Given the description of an element on the screen output the (x, y) to click on. 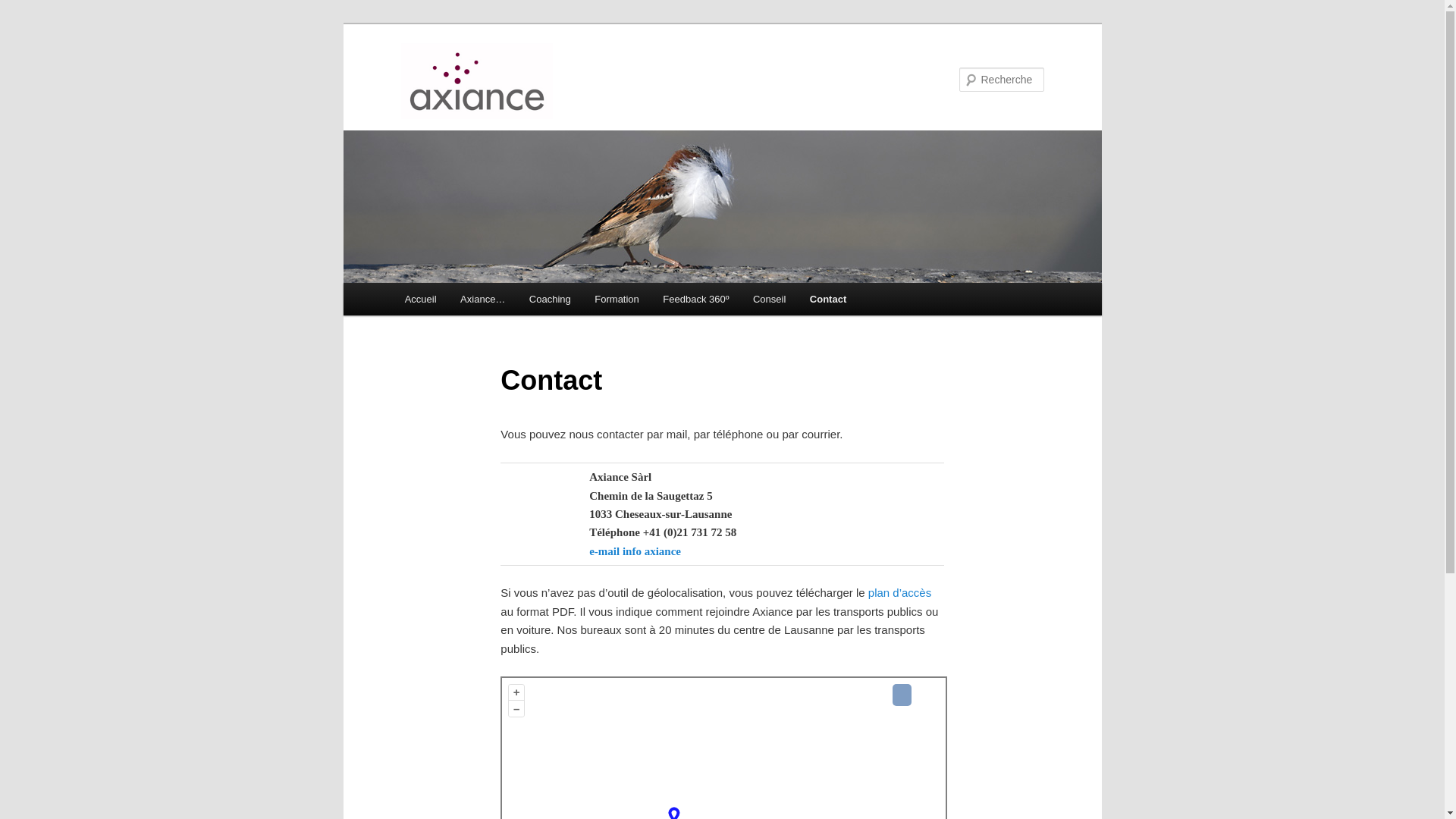
Conseil Element type: text (768, 298)
e-mail info axiance Element type: text (634, 551)
+ Element type: text (516, 692)
Recherche Element type: text (33, 8)
Formation Element type: text (617, 298)
Aller au contenu principal Element type: text (414, 282)
Coaching Element type: text (549, 298)
Accueil Element type: text (420, 298)
Contact Element type: text (827, 298)
